Given the description of an element on the screen output the (x, y) to click on. 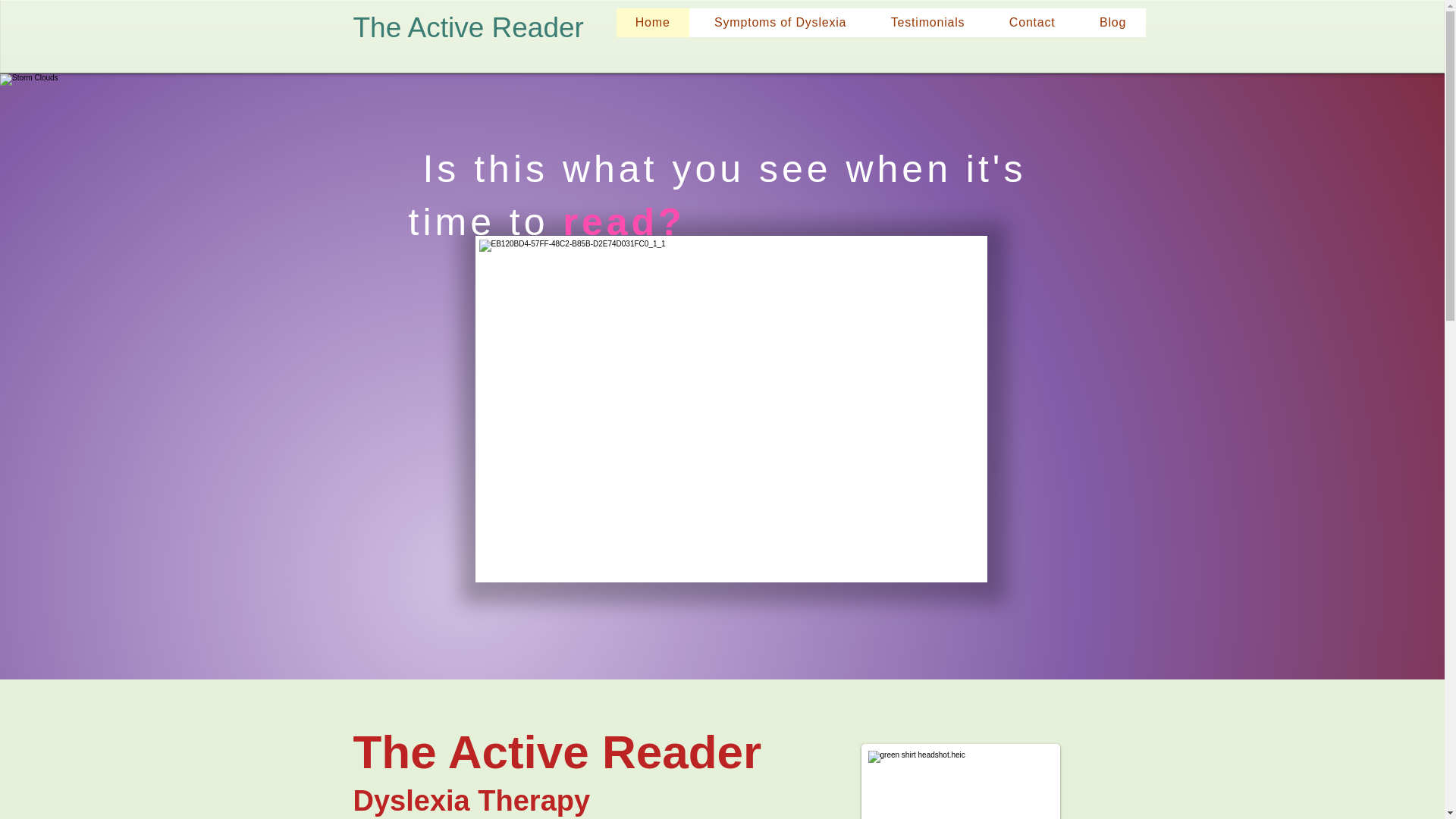
Symptoms of Dyslexia (780, 22)
Home (651, 22)
Testimonials (928, 22)
Contact (1032, 22)
Blog (1112, 22)
